Given the description of an element on the screen output the (x, y) to click on. 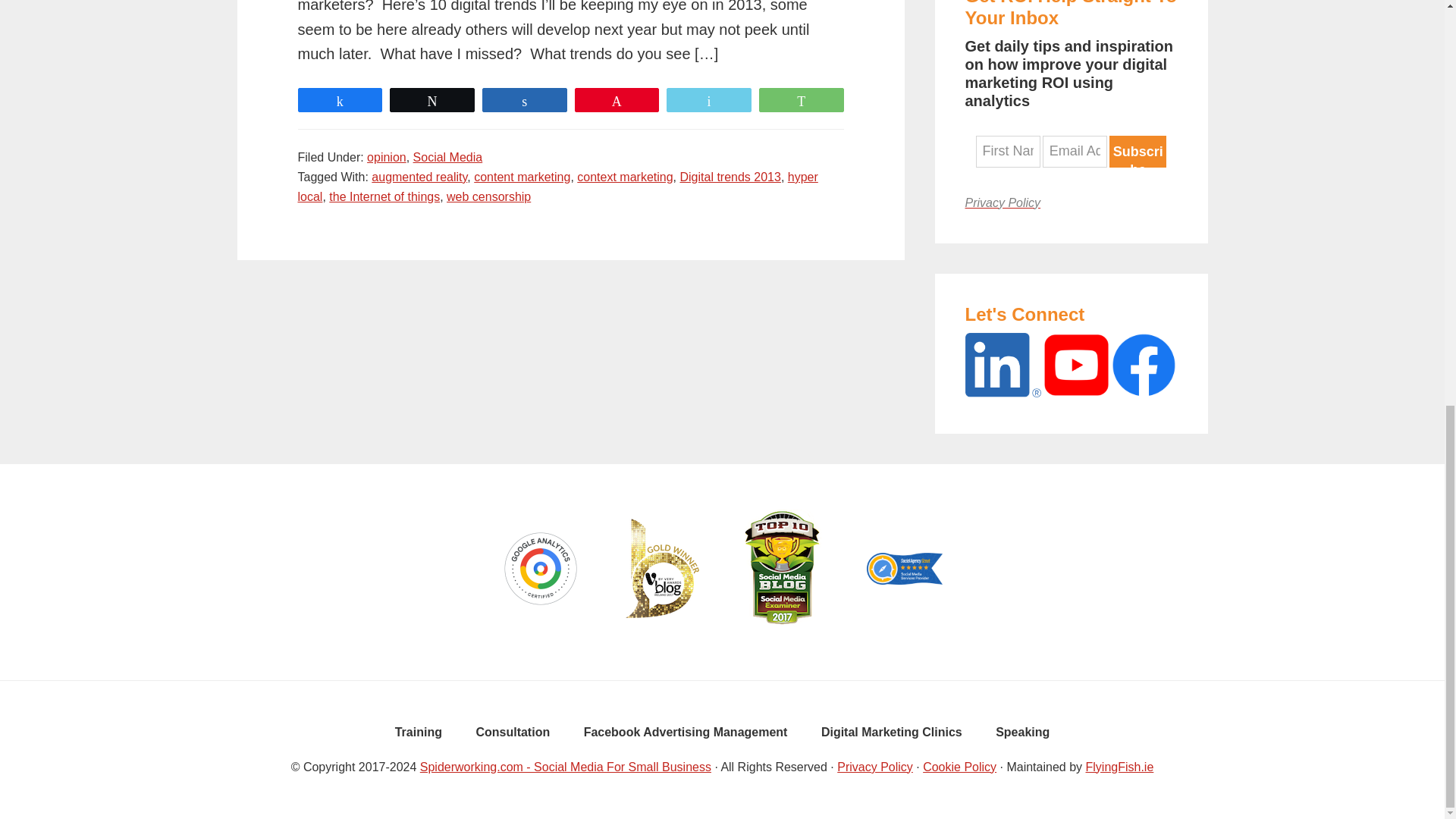
opinion (386, 156)
augmented reality (419, 176)
Digital trends 2013 (729, 176)
context marketing (624, 176)
Social Media (448, 156)
hyper local (556, 186)
web censorship (488, 196)
the Internet of things (384, 196)
Subscribe (1138, 151)
content marketing (522, 176)
